Given the description of an element on the screen output the (x, y) to click on. 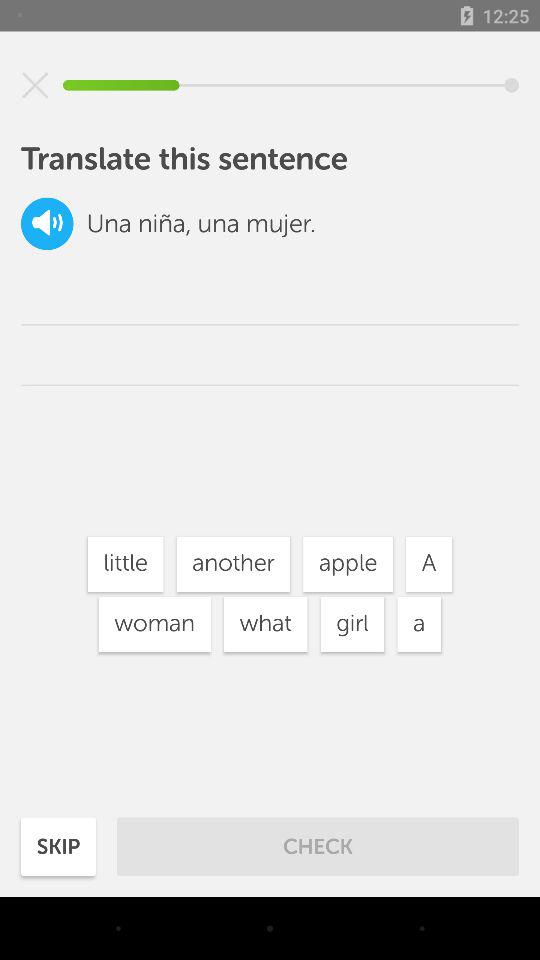
press item to the left of a icon (348, 563)
